Given the description of an element on the screen output the (x, y) to click on. 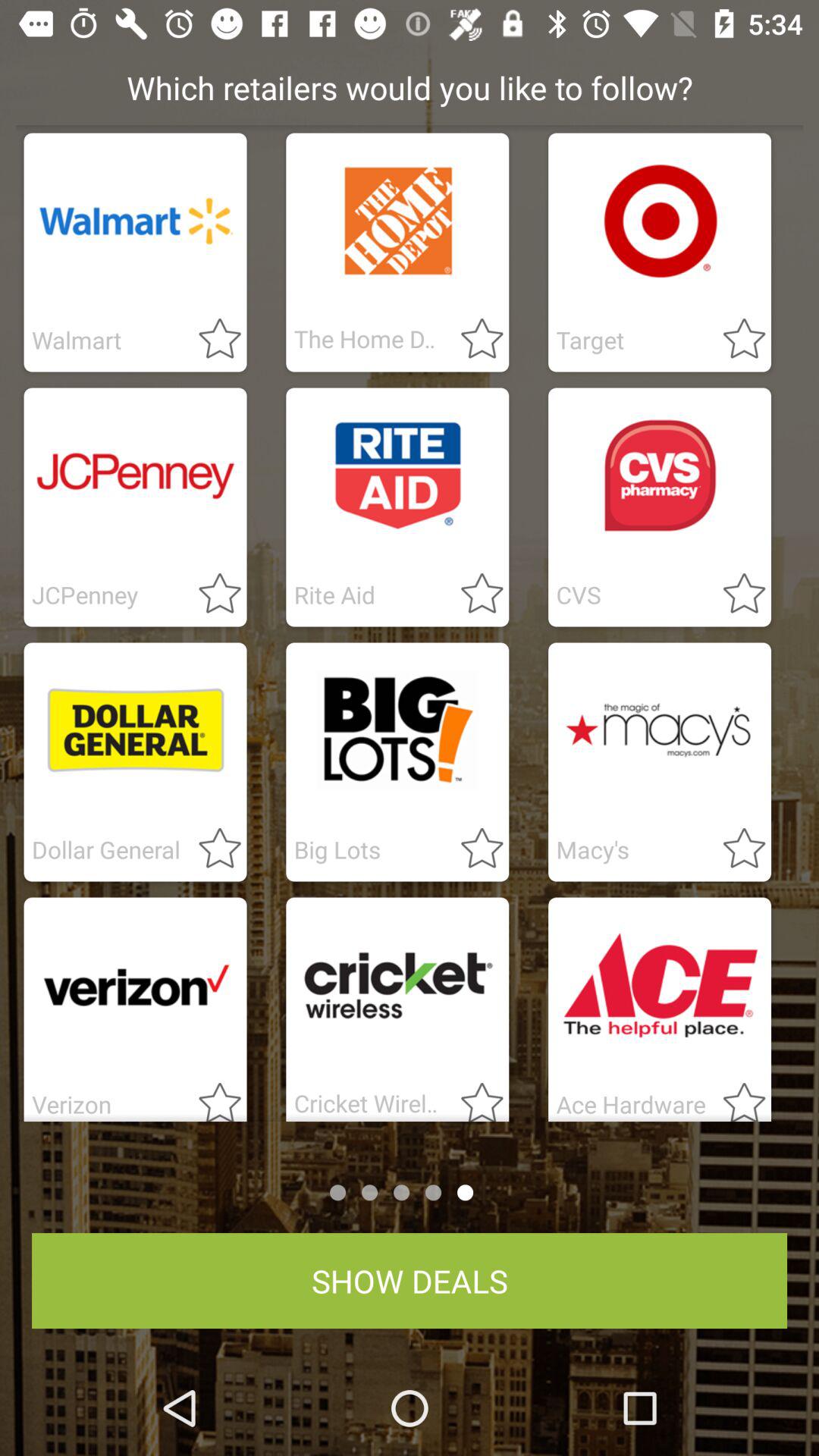
toggle favorite (735, 1096)
